Given the description of an element on the screen output the (x, y) to click on. 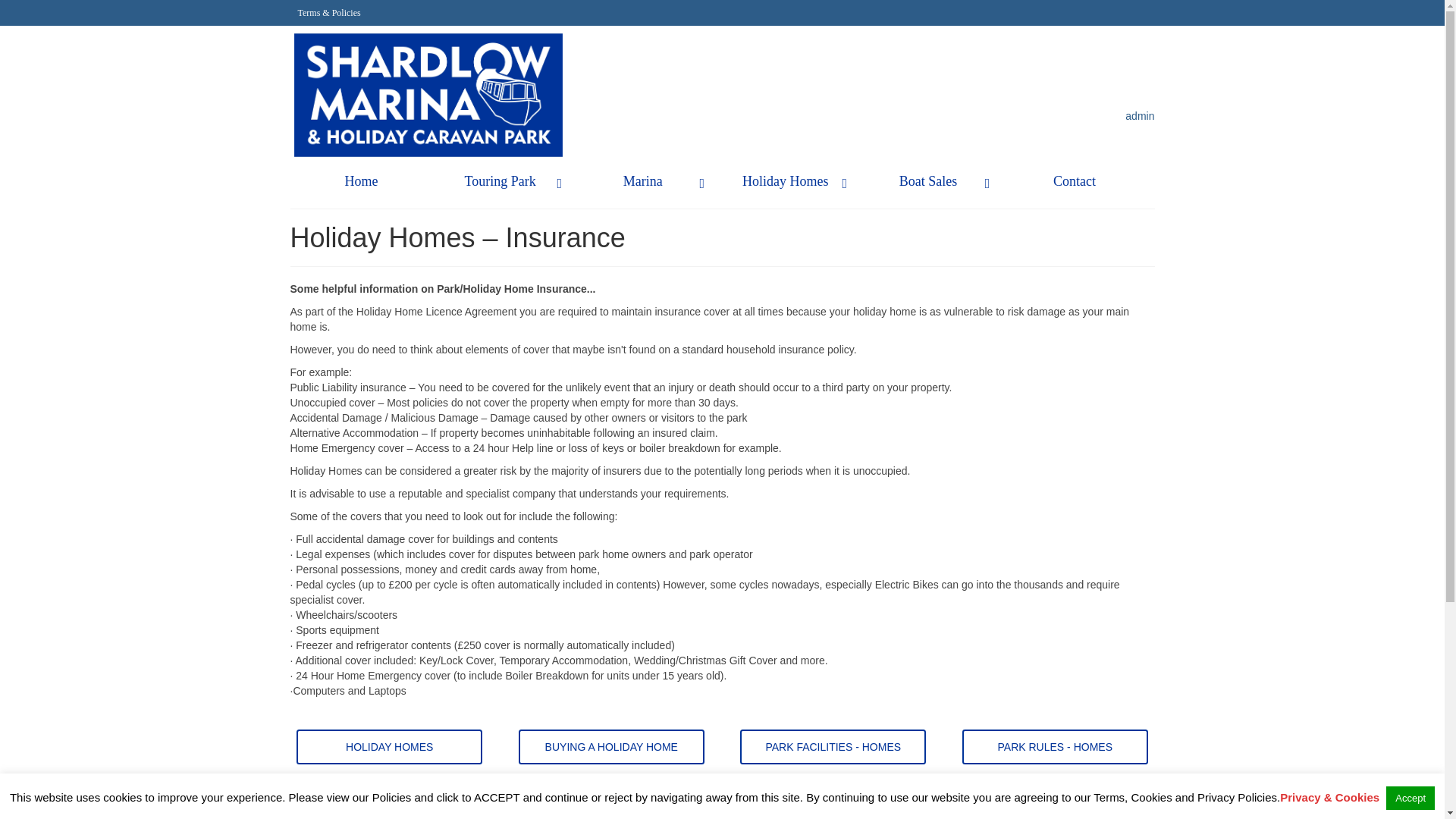
Home (360, 181)
Touring Park (503, 181)
admin (1139, 115)
